Given the description of an element on the screen output the (x, y) to click on. 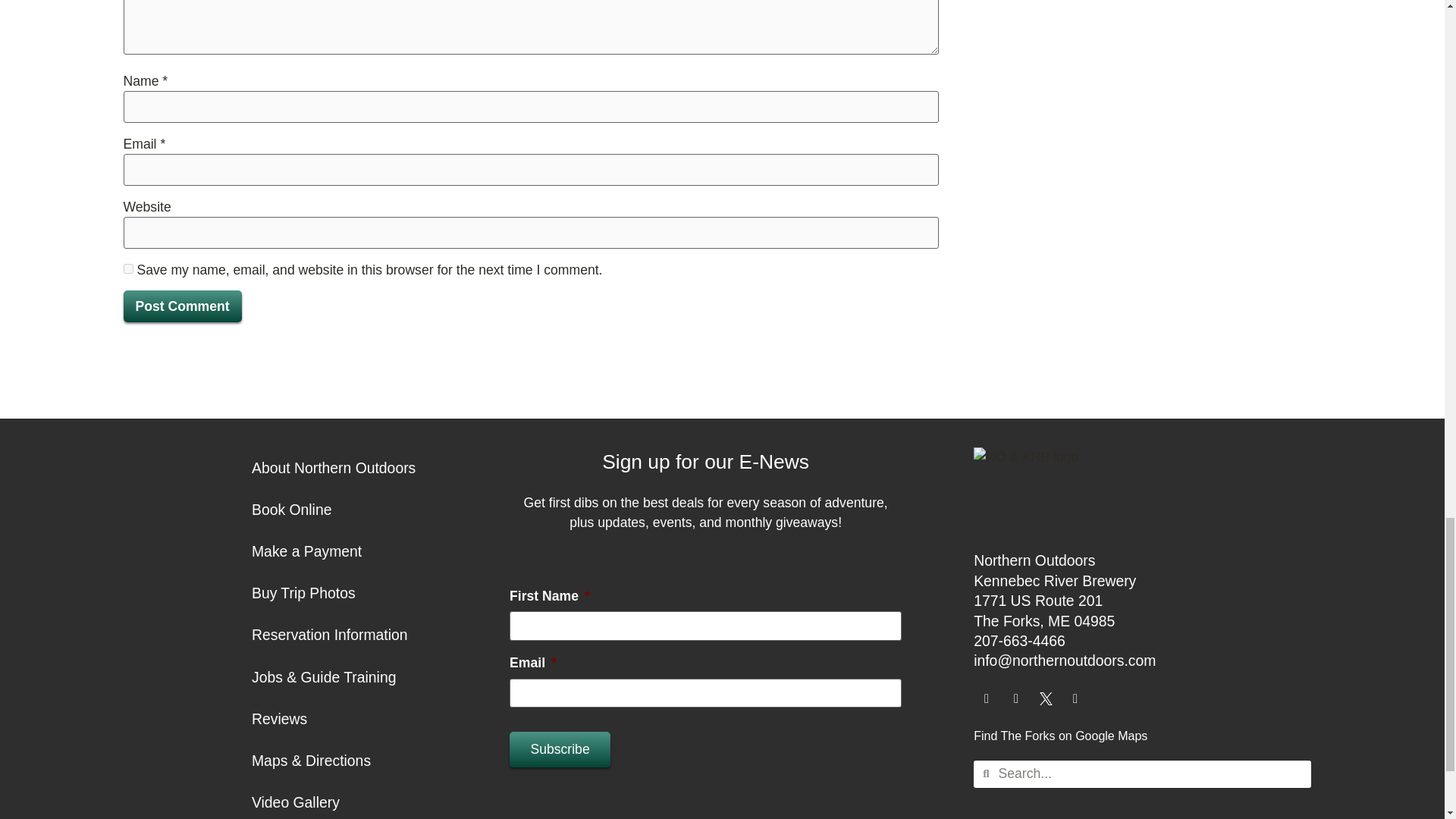
Post Comment (181, 306)
yes (127, 268)
Subscribe (559, 749)
